Given the description of an element on the screen output the (x, y) to click on. 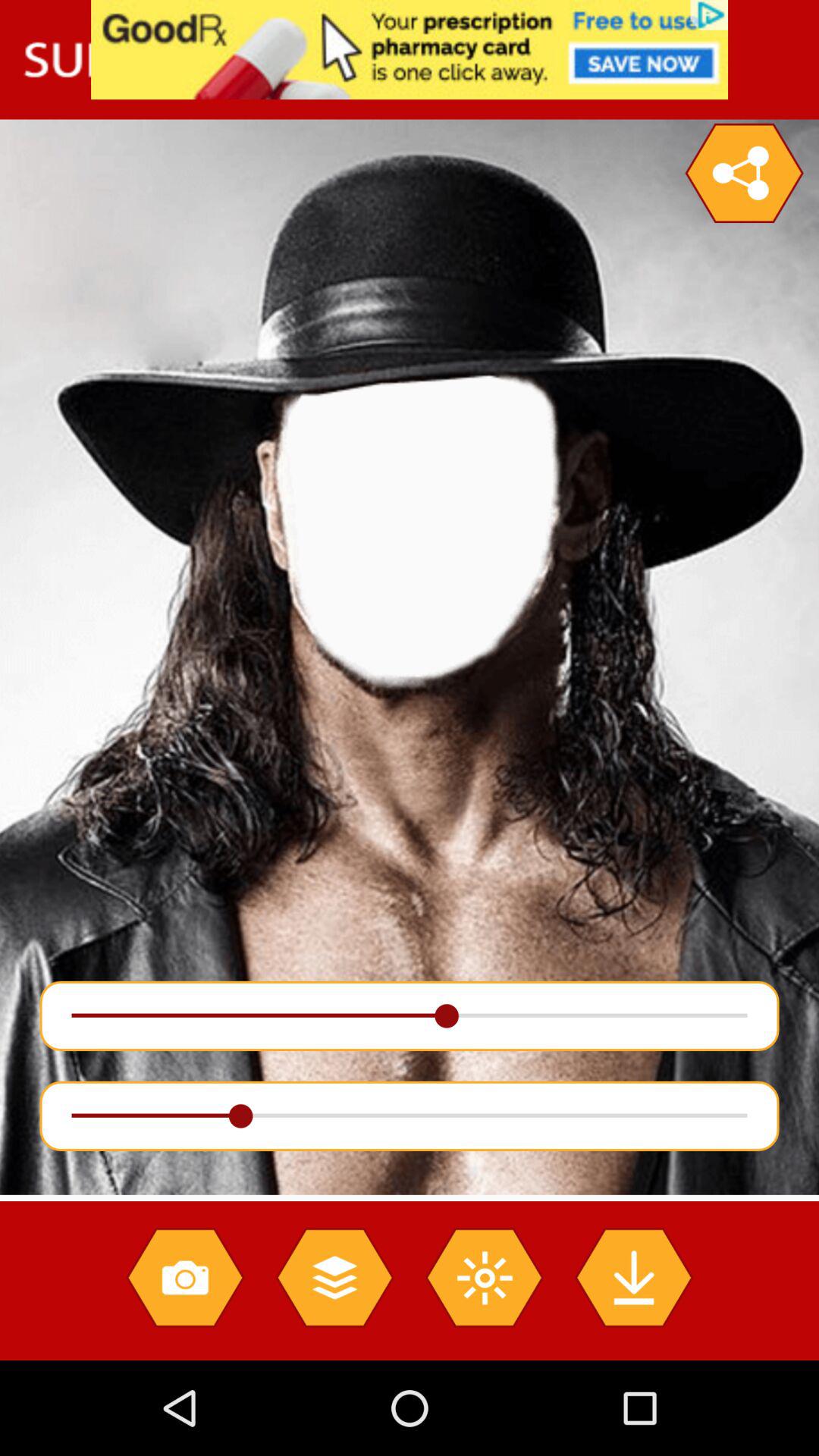
stack layers (334, 1277)
